Given the description of an element on the screen output the (x, y) to click on. 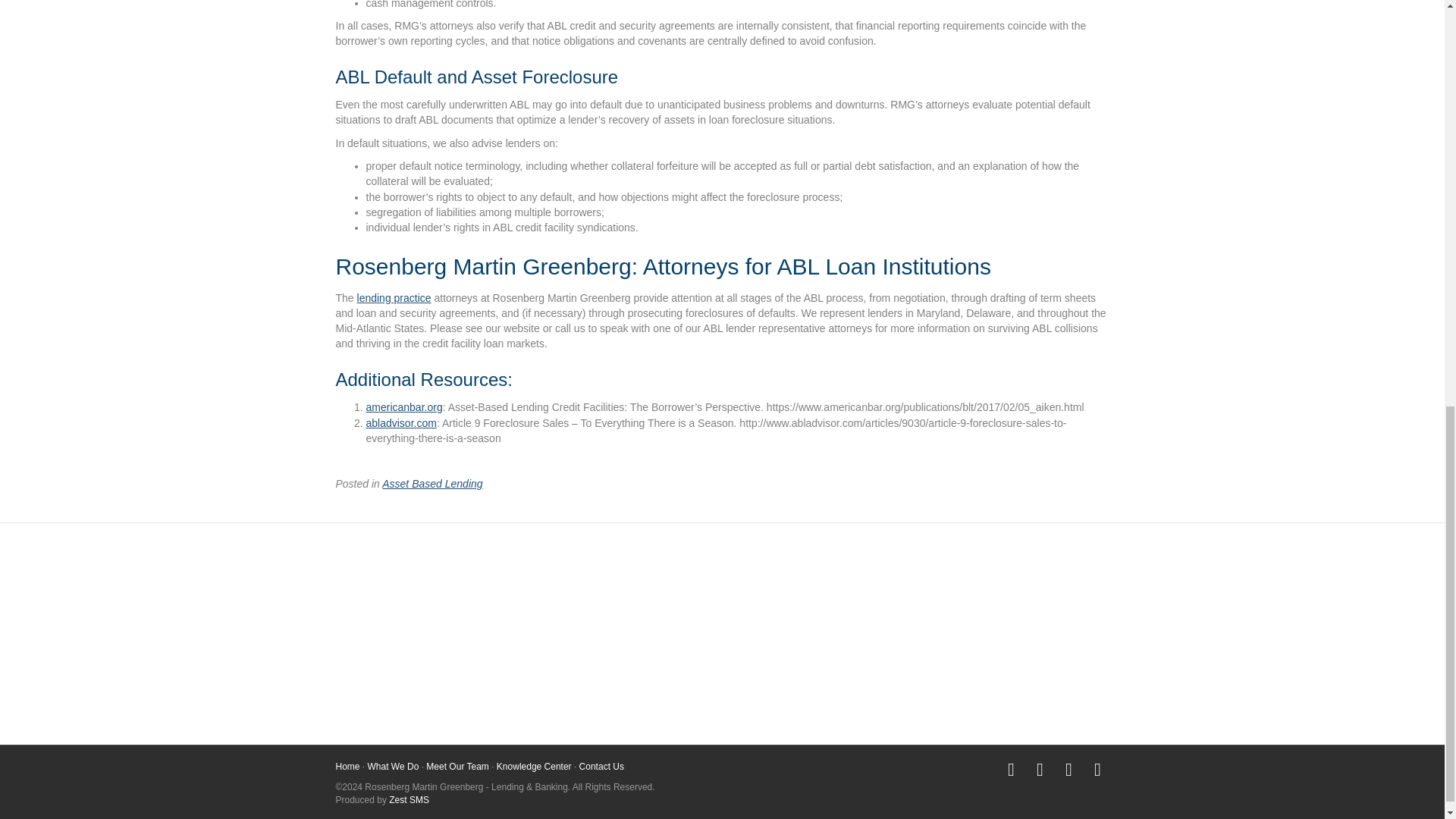
Home (346, 766)
Bonds and Tax Credits (453, 644)
Non-Consolidation Opinions (989, 599)
americanbar.org (403, 407)
Commercial Litigation (453, 667)
Foreclosures (722, 640)
lending practice (393, 297)
Asset Based Lending (431, 483)
Real Estate Finance (989, 644)
Defending Consumer Claims and Class Actions (453, 614)
Loan Modification and Forbearance Agreements (722, 694)
abladvisor.com (400, 422)
Syndicated Loans (989, 667)
Document Review (722, 617)
Asset Based Lending (453, 599)
